Given the description of an element on the screen output the (x, y) to click on. 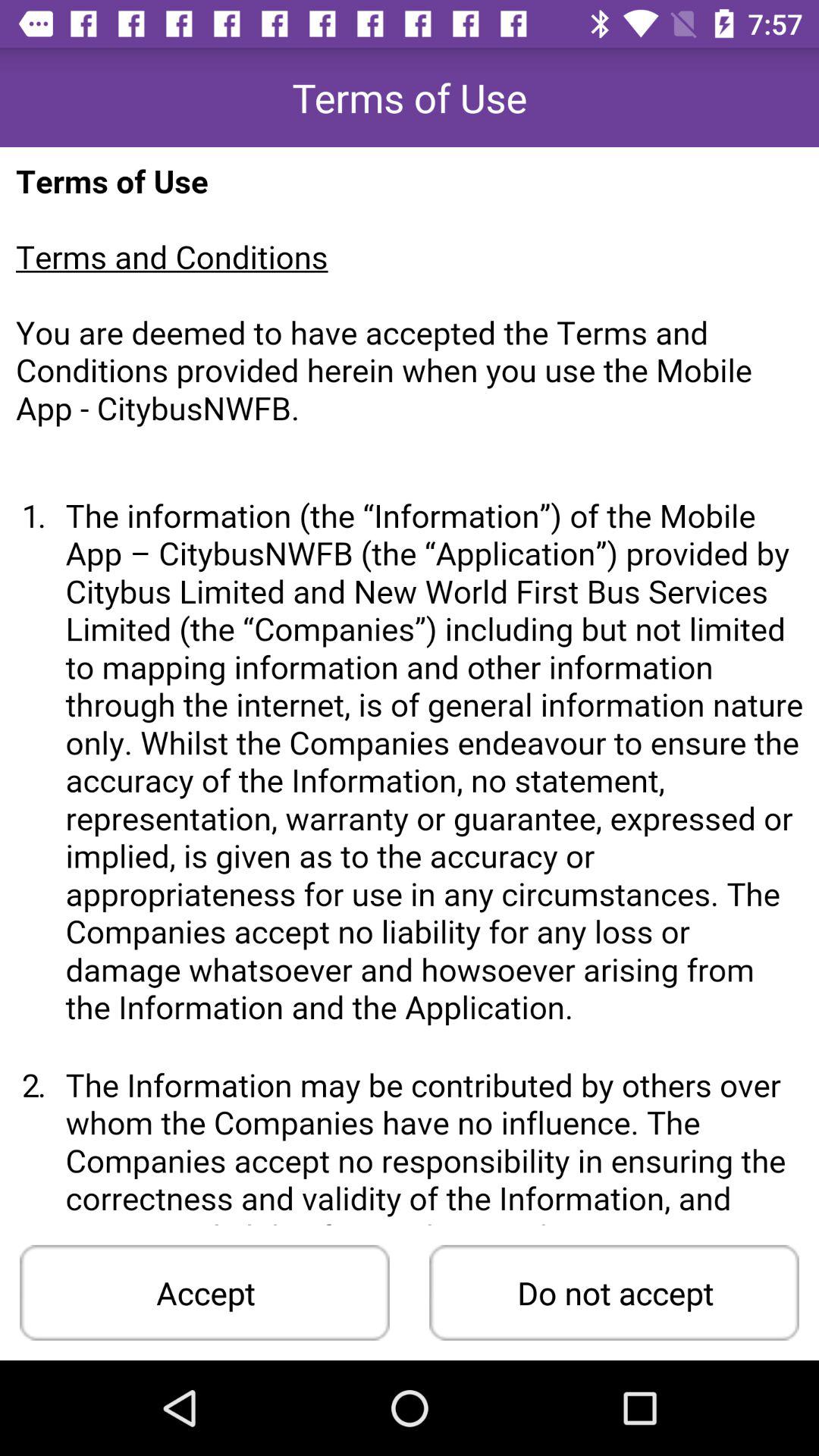
conditions (409, 686)
